Given the description of an element on the screen output the (x, y) to click on. 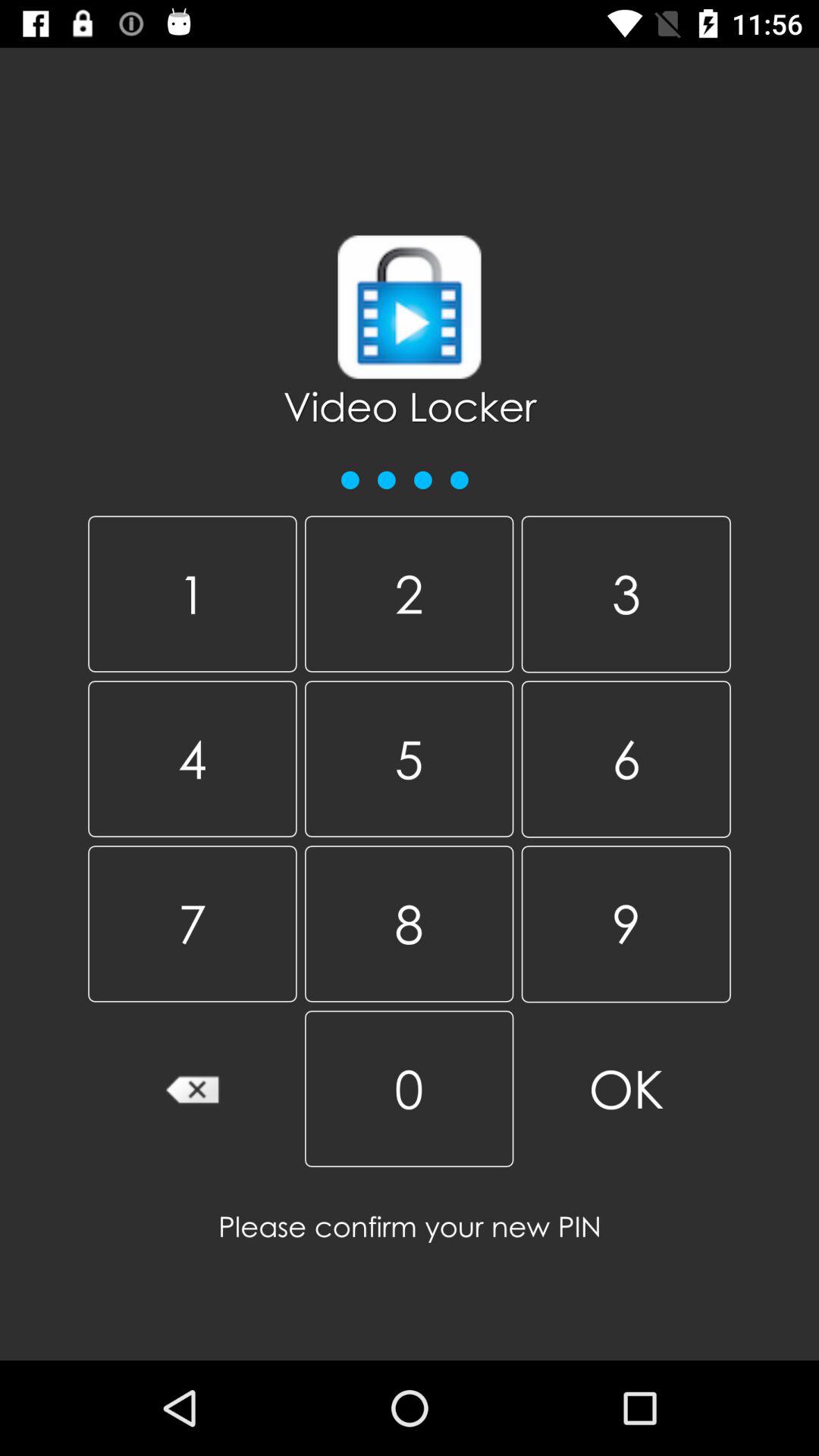
choose icon above 8 (625, 758)
